Given the description of an element on the screen output the (x, y) to click on. 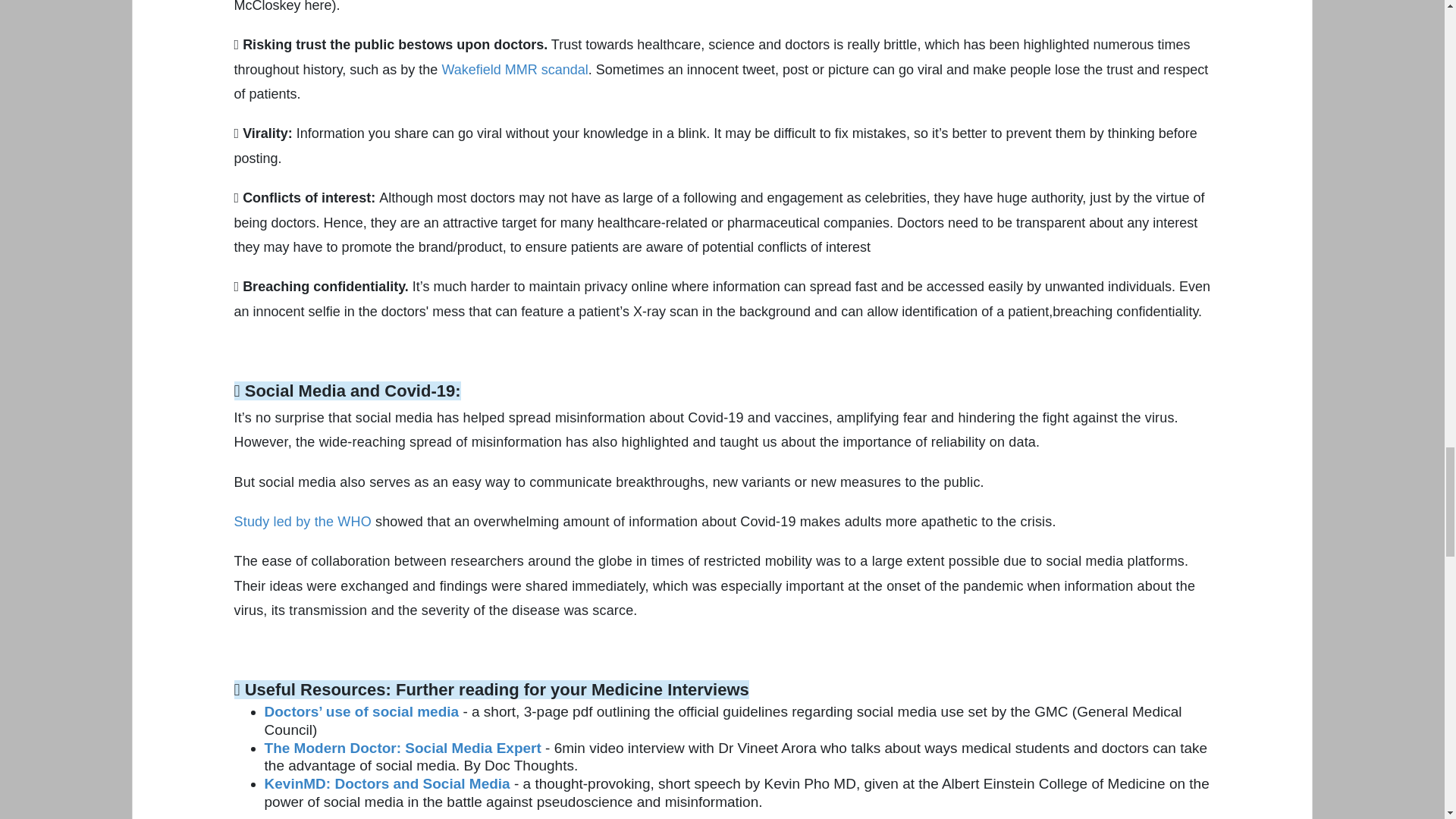
Wakefield MMR scandal (514, 69)
here (317, 6)
The Modern Doctor: Social Media Expert (402, 747)
KevinMD: Doctors and Social Media (387, 783)
Study led by the WHO (302, 521)
